Given the description of an element on the screen output the (x, y) to click on. 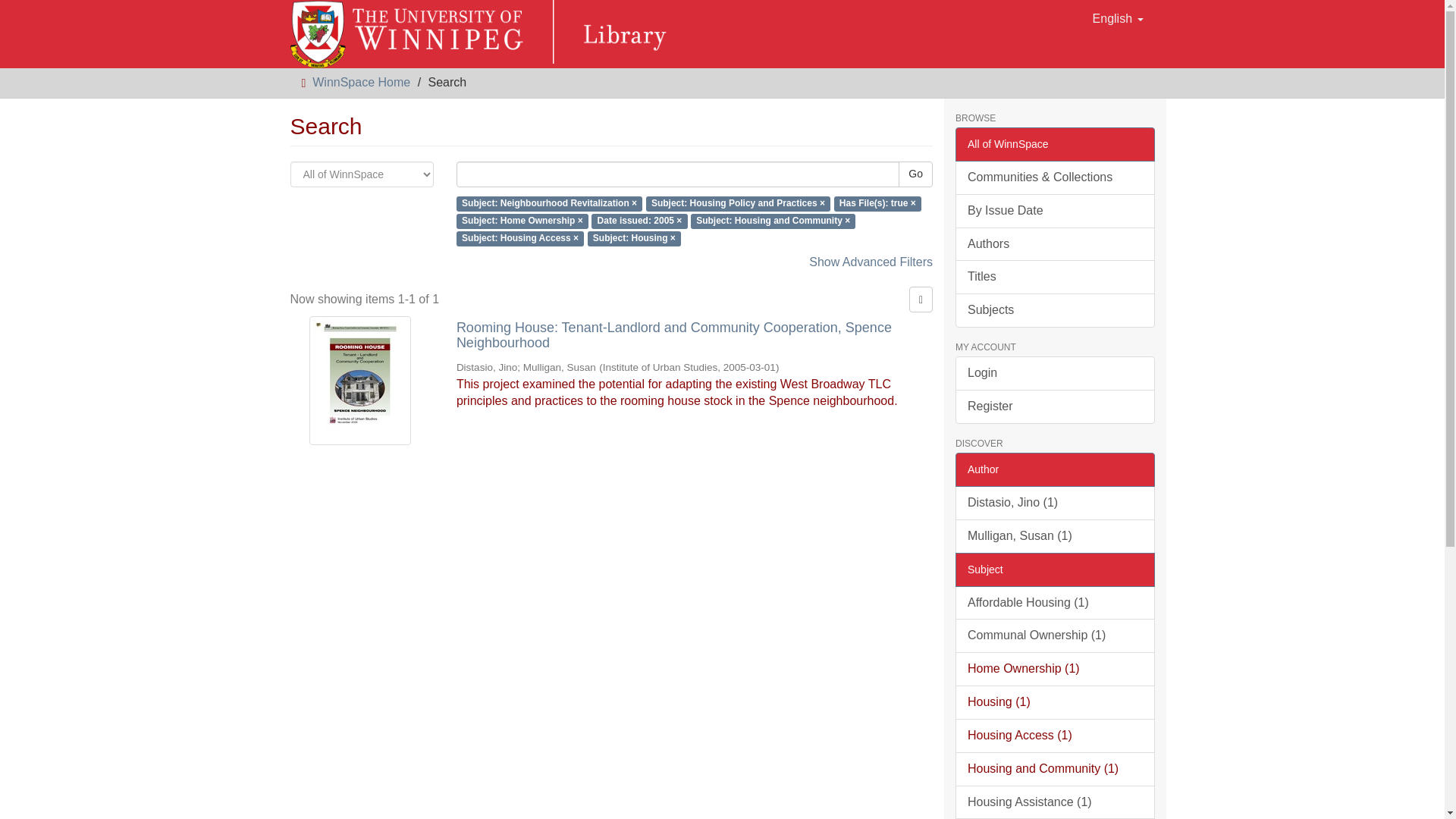
Show Advanced Filters (871, 261)
WinnSpace Home (361, 82)
Go (915, 174)
English  (1117, 18)
